Given the description of an element on the screen output the (x, y) to click on. 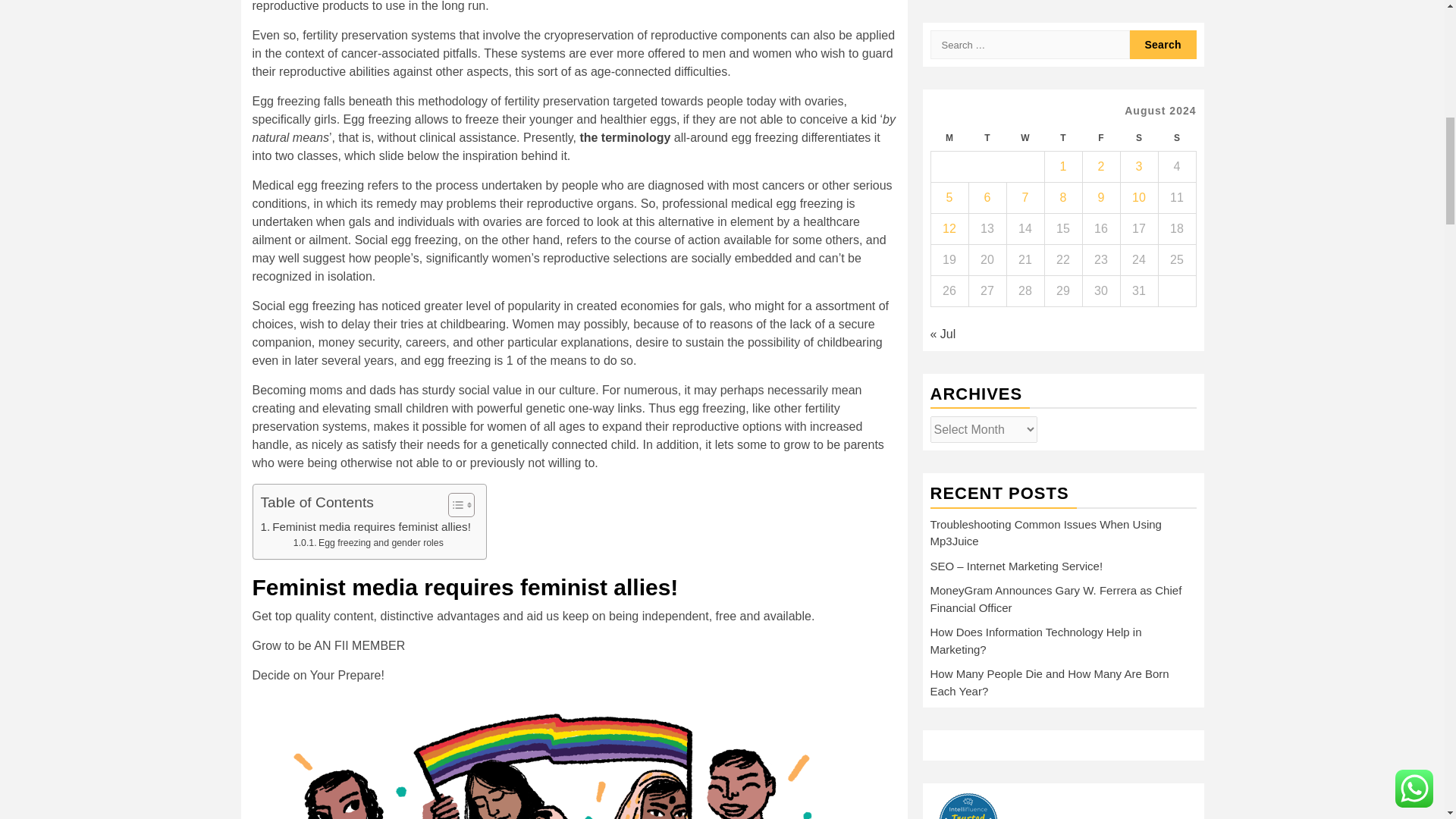
Egg freezing and gender roles (369, 543)
Feminist media requires feminist allies! (365, 525)
Egg freezing and gender roles (369, 543)
Feminist media requires feminist allies! (365, 525)
the terminology (625, 136)
